Given the description of an element on the screen output the (x, y) to click on. 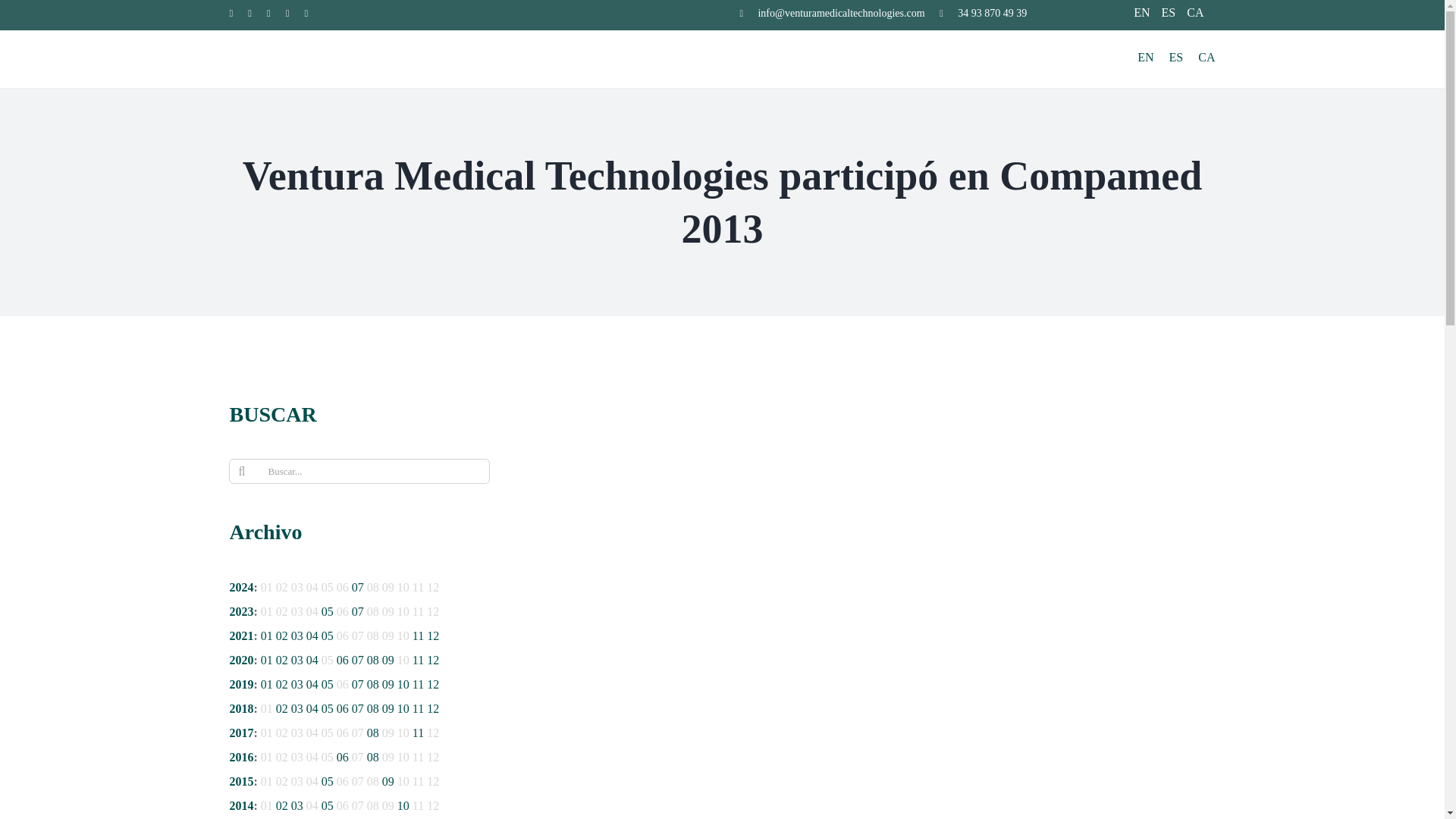
marzo 2021 (296, 635)
febrero 2021 (282, 635)
mayo 2023 (327, 611)
julio 2023 (358, 611)
enero 2021 (266, 635)
abril 2021 (311, 635)
mayo 2021 (327, 635)
julio 2024 (358, 586)
